Given the description of an element on the screen output the (x, y) to click on. 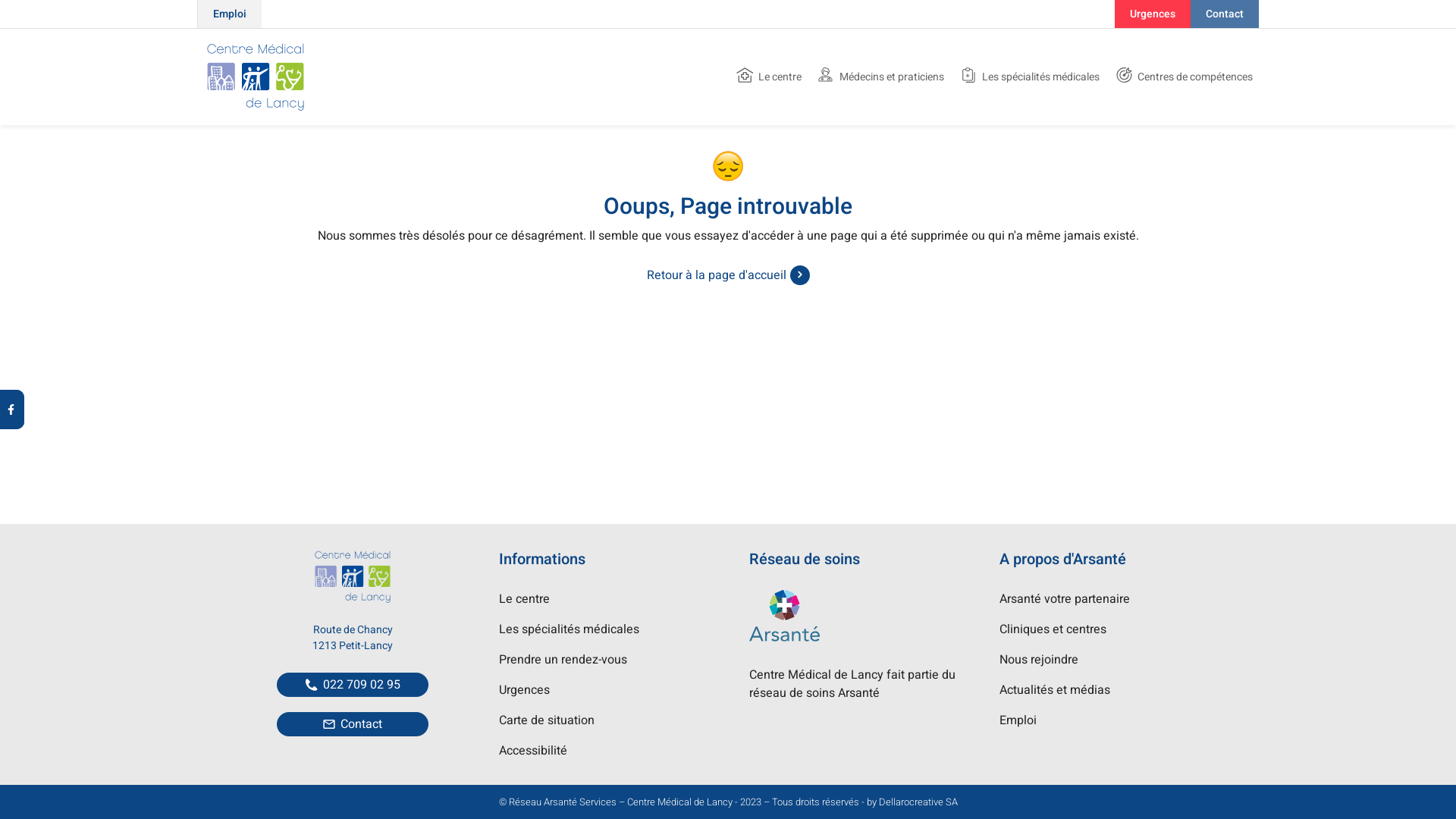
Contact Element type: text (1224, 14)
Carte de situation Element type: text (546, 720)
Urgences Element type: text (1152, 14)
Emploi Element type: text (229, 14)
Nous rejoindre Element type: text (1038, 659)
Emploi Element type: text (1017, 720)
022 709 02 95 Element type: text (352, 684)
Le centre Element type: text (523, 598)
Urgences Element type: text (523, 689)
Prendre un rendez-vous Element type: text (562, 659)
Dellarocreative SA Element type: text (917, 801)
Contact Element type: text (352, 724)
Cliniques et centres Element type: text (1052, 629)
Le centre Element type: text (768, 76)
